Given the description of an element on the screen output the (x, y) to click on. 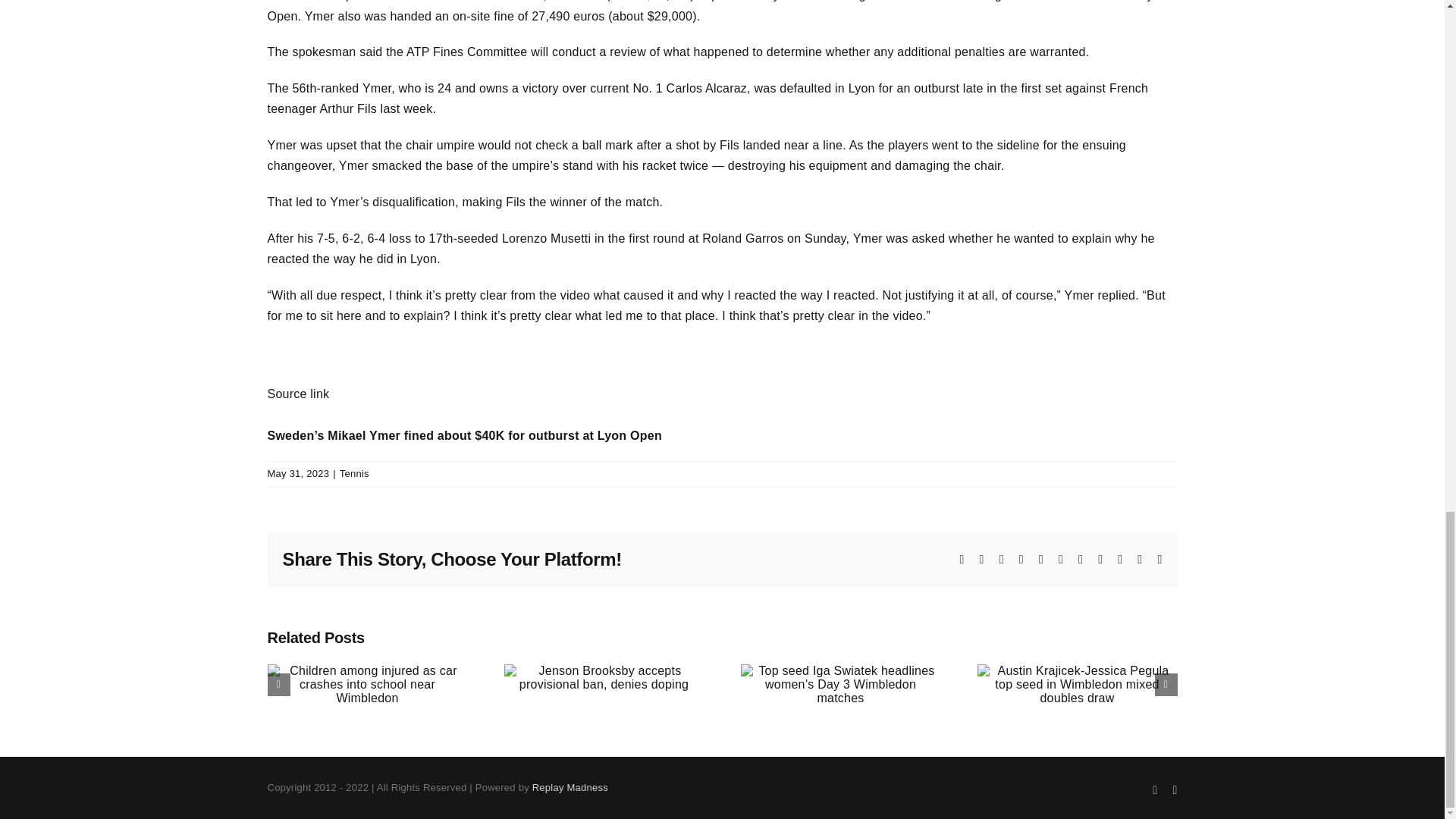
Facebook (961, 559)
X (981, 559)
Pinterest (1099, 559)
WhatsApp (1041, 559)
Reddit (1001, 559)
Tumblr (1080, 559)
Vk (1120, 559)
LinkedIn (1021, 559)
Telegram (1060, 559)
